Given the description of an element on the screen output the (x, y) to click on. 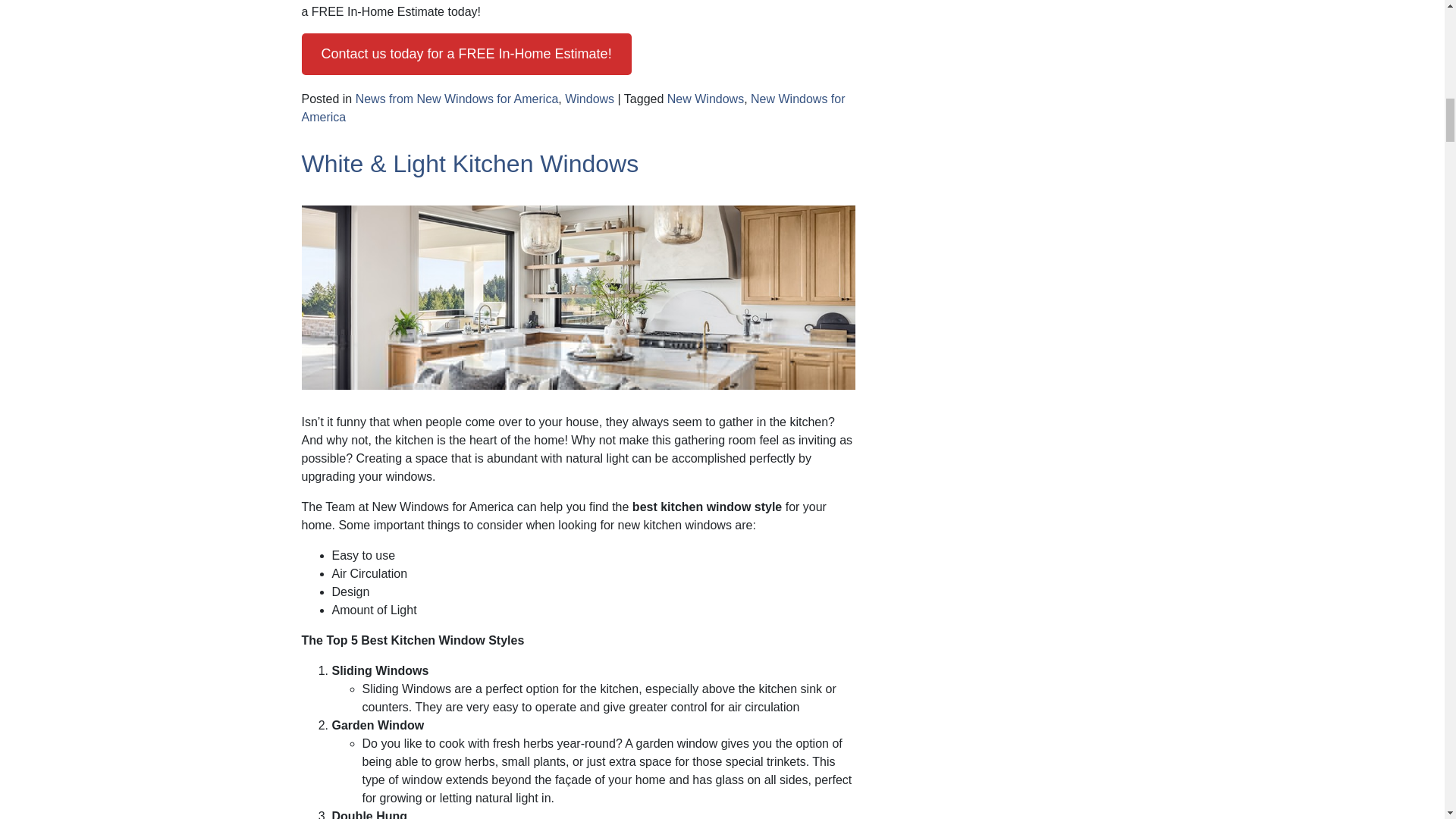
New Windows (705, 98)
Windows (589, 98)
New Windows for America (573, 107)
News from New Windows for America (457, 98)
Contact us today for a FREE In-Home Estimate! (466, 54)
